Given the description of an element on the screen output the (x, y) to click on. 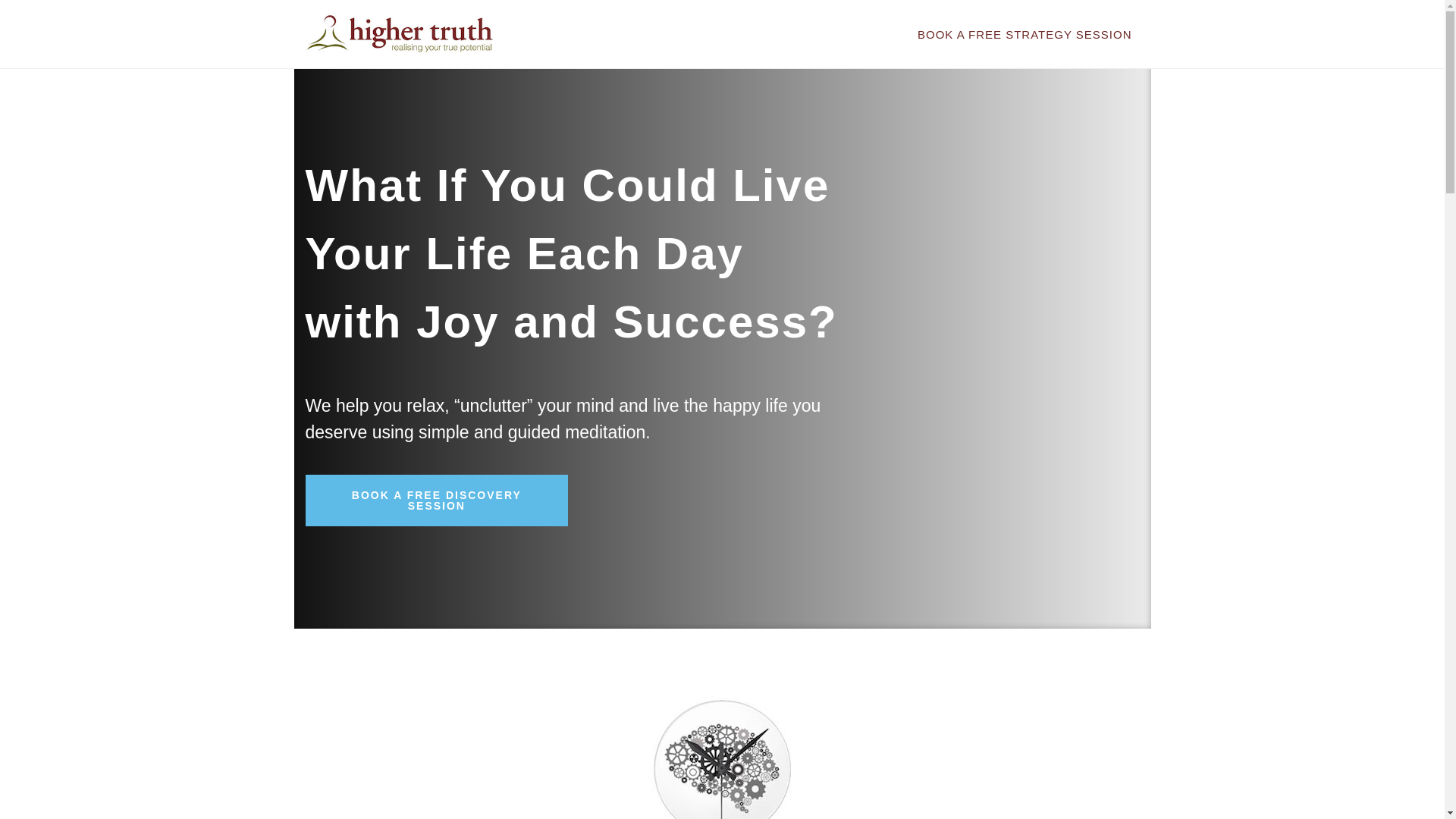
BOOK A FREE DISCOVERY SESSION Element type: text (435, 500)
BOOK A FREE STRATEGY SESSION Element type: text (1024, 34)
